Given the description of an element on the screen output the (x, y) to click on. 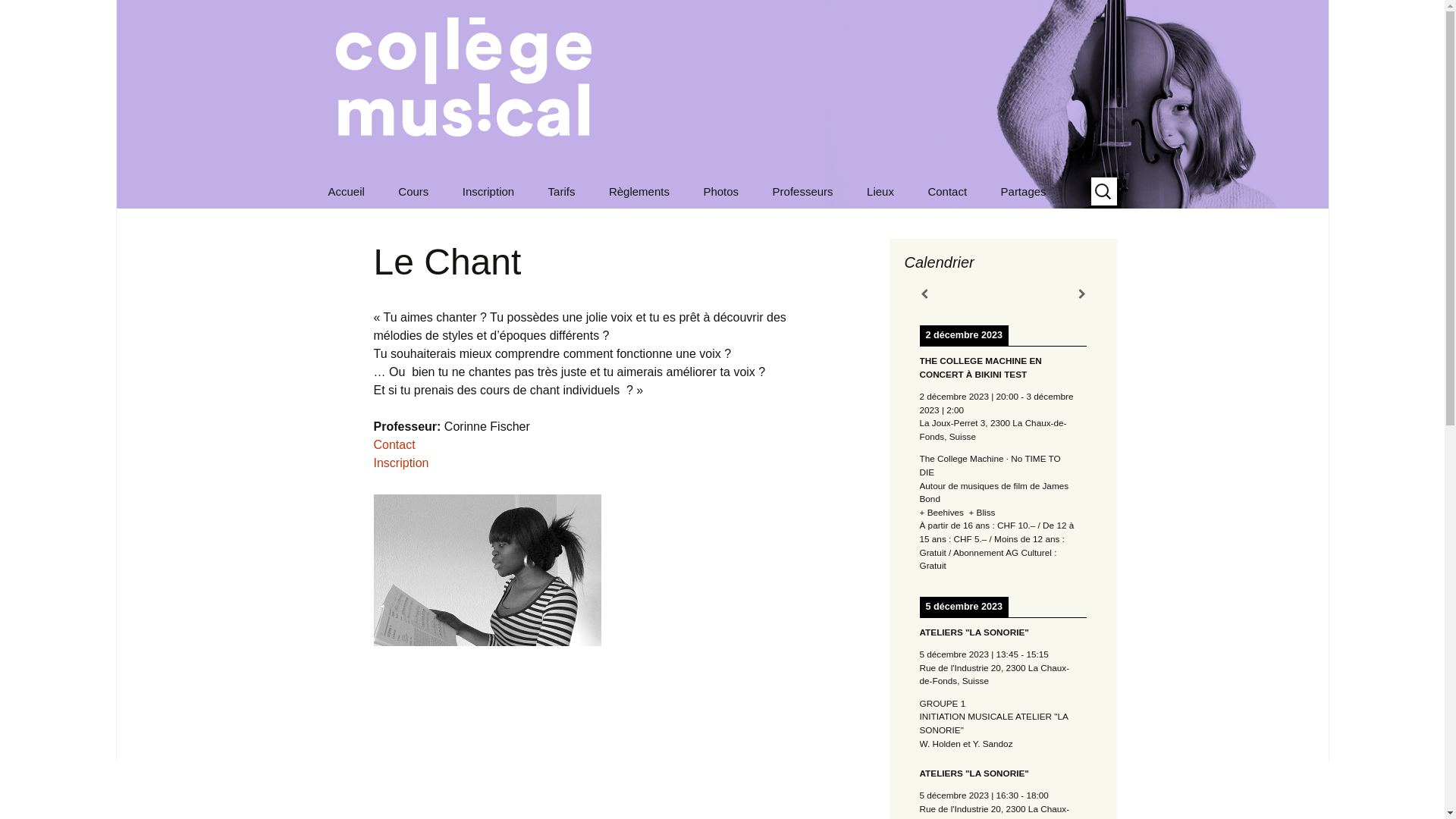
Partages Element type: text (1023, 191)
Contact Element type: text (947, 191)
Contact Element type: text (393, 444)
Tarifs Element type: text (561, 191)
Inscription Element type: text (488, 191)
Lieux Element type: text (880, 191)
Professeurs Element type: text (802, 191)
Photos Element type: text (720, 191)
Aller au contenu Element type: text (312, 173)
Cours Element type: text (412, 191)
Professeurs Element type: text (833, 225)
Rechercher Element type: text (18, 15)
Accueil Element type: text (345, 191)
Suiv. Element type: hover (1081, 294)
Inscription Element type: text (400, 462)
